Given the description of an element on the screen output the (x, y) to click on. 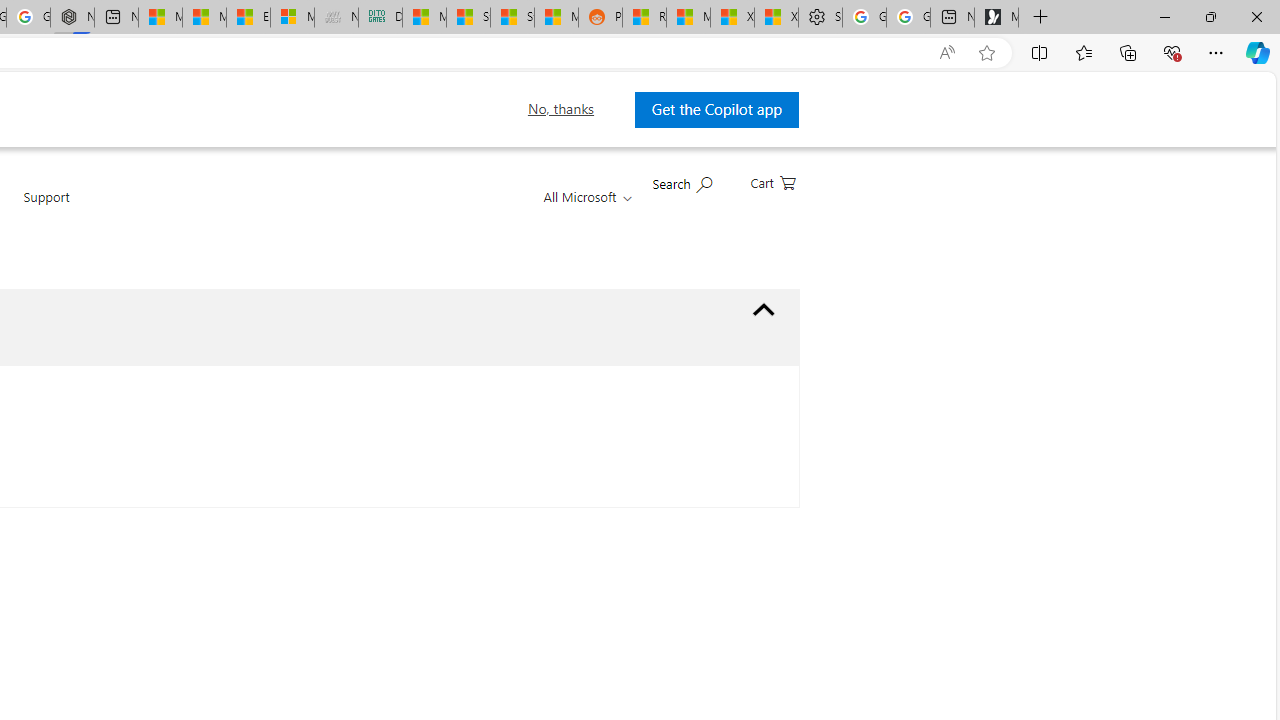
Support (46, 208)
Support (46, 207)
What product are you reporting on? no option selected (763, 309)
R******* | Trusted Community Engagement and Contributions (644, 17)
